Given the description of an element on the screen output the (x, y) to click on. 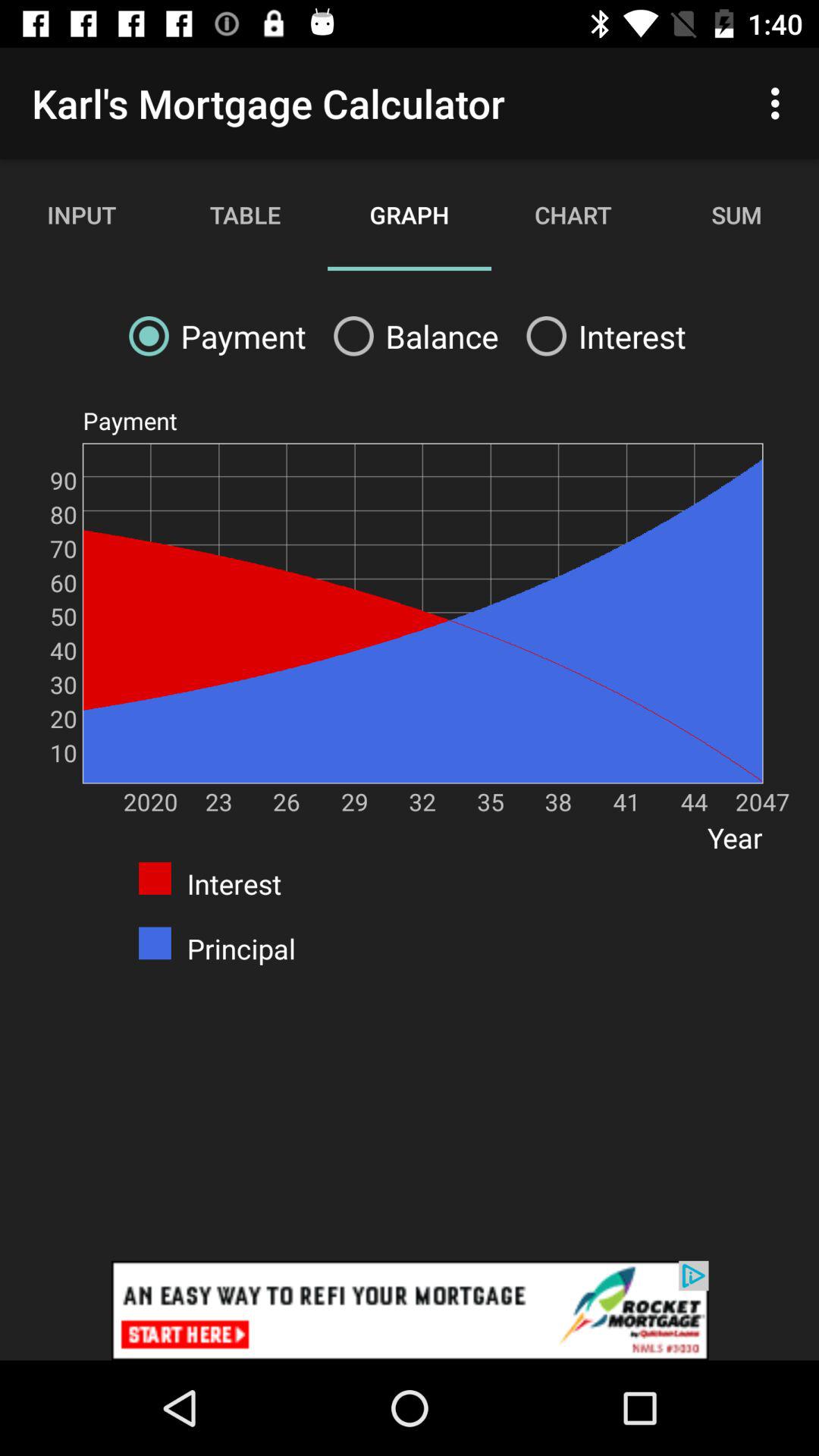
click discriiption (409, 1310)
